Given the description of an element on the screen output the (x, y) to click on. 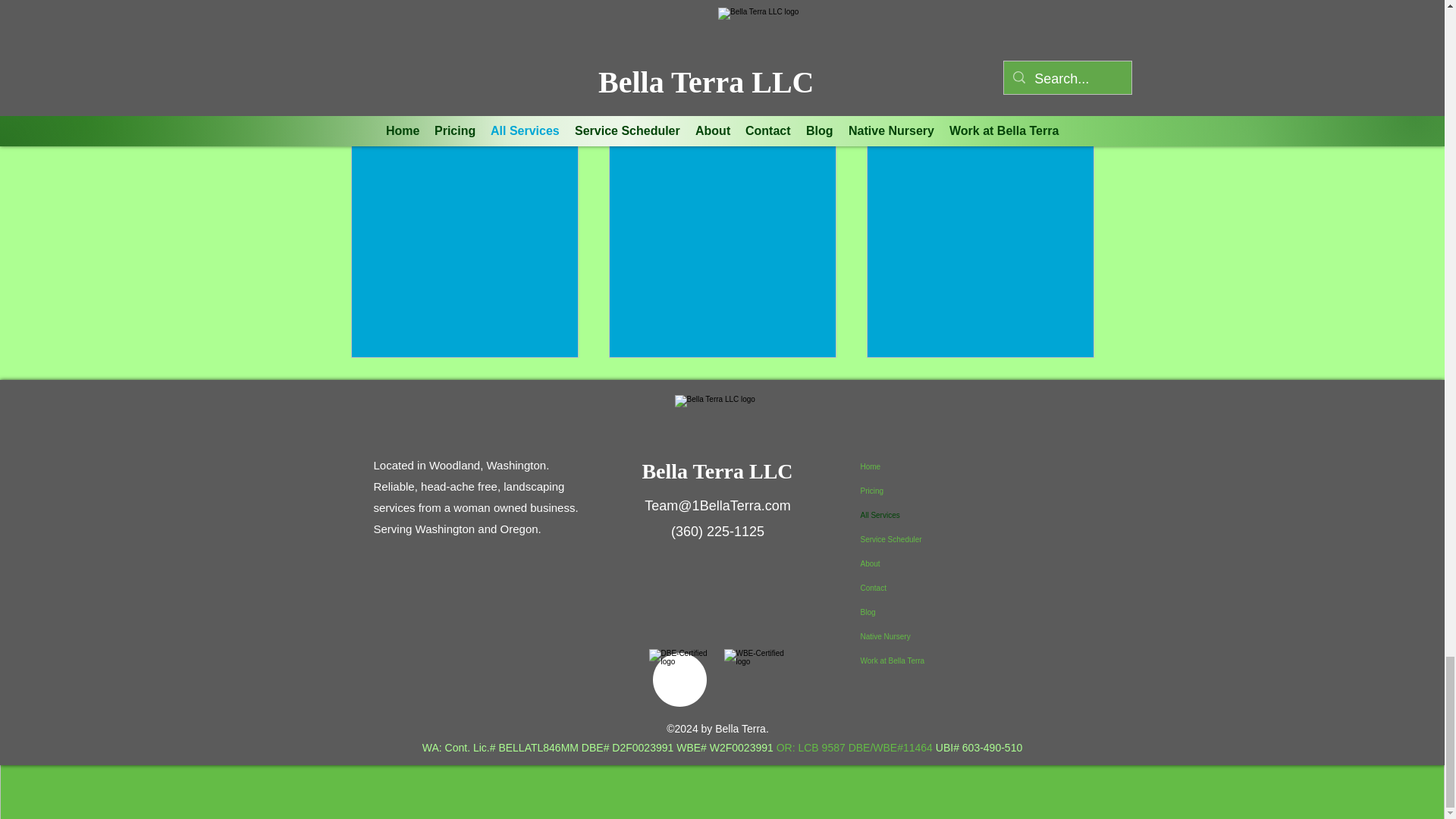
Pricing (960, 491)
Home (960, 467)
All Services (960, 515)
favicon. png-01.png (717, 436)
